Given the description of an element on the screen output the (x, y) to click on. 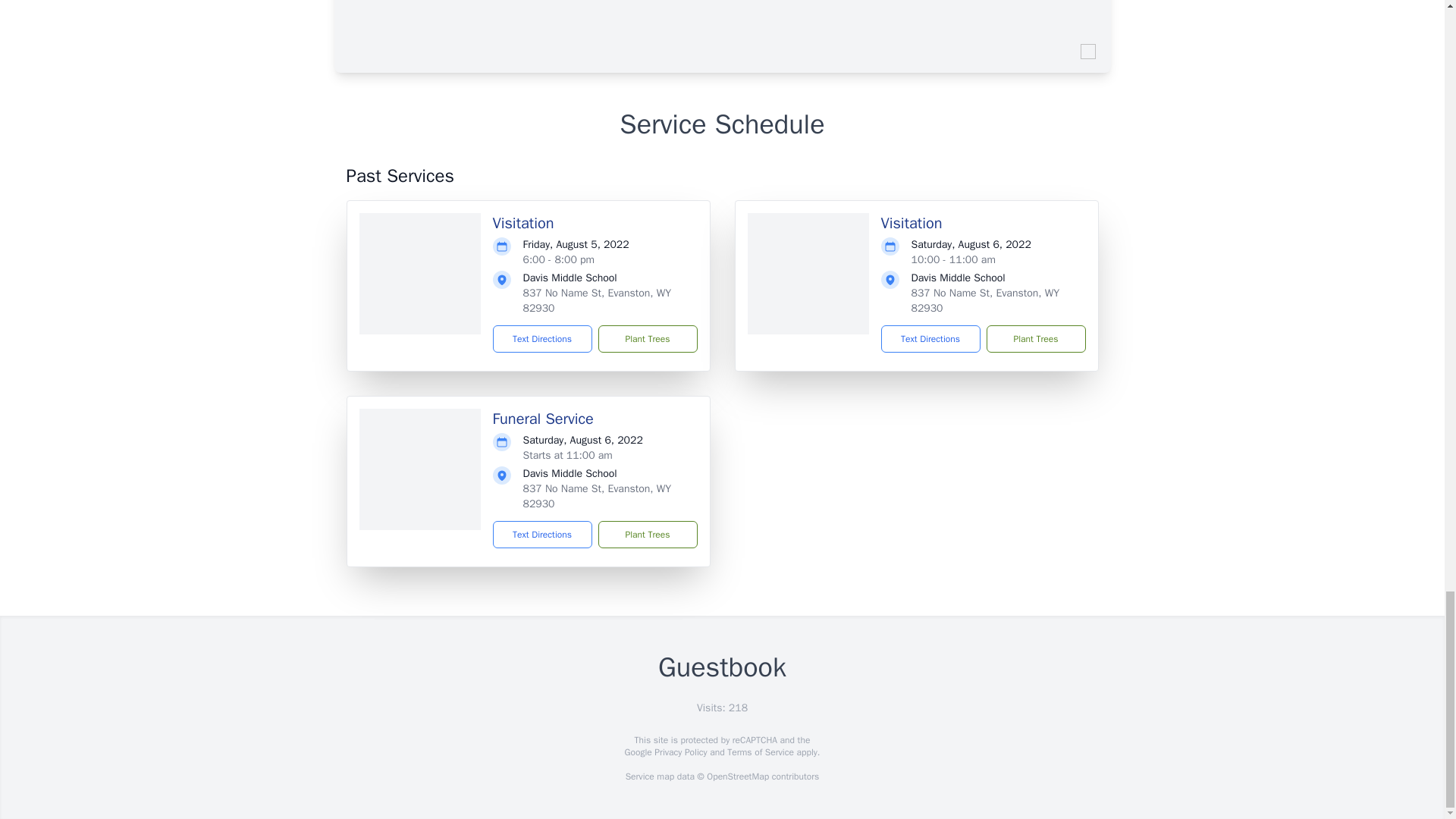
Text Directions (929, 338)
OpenStreetMap (737, 776)
837 No Name St, Evanston, WY 82930 (985, 300)
837 No Name St, Evanston, WY 82930 (596, 300)
Plant Trees (646, 338)
Privacy Policy (679, 752)
Text Directions (542, 338)
Text Directions (542, 533)
Plant Trees (1034, 338)
Plant Trees (646, 533)
Terms of Service (759, 752)
837 No Name St, Evanston, WY 82930 (596, 496)
